Given the description of an element on the screen output the (x, y) to click on. 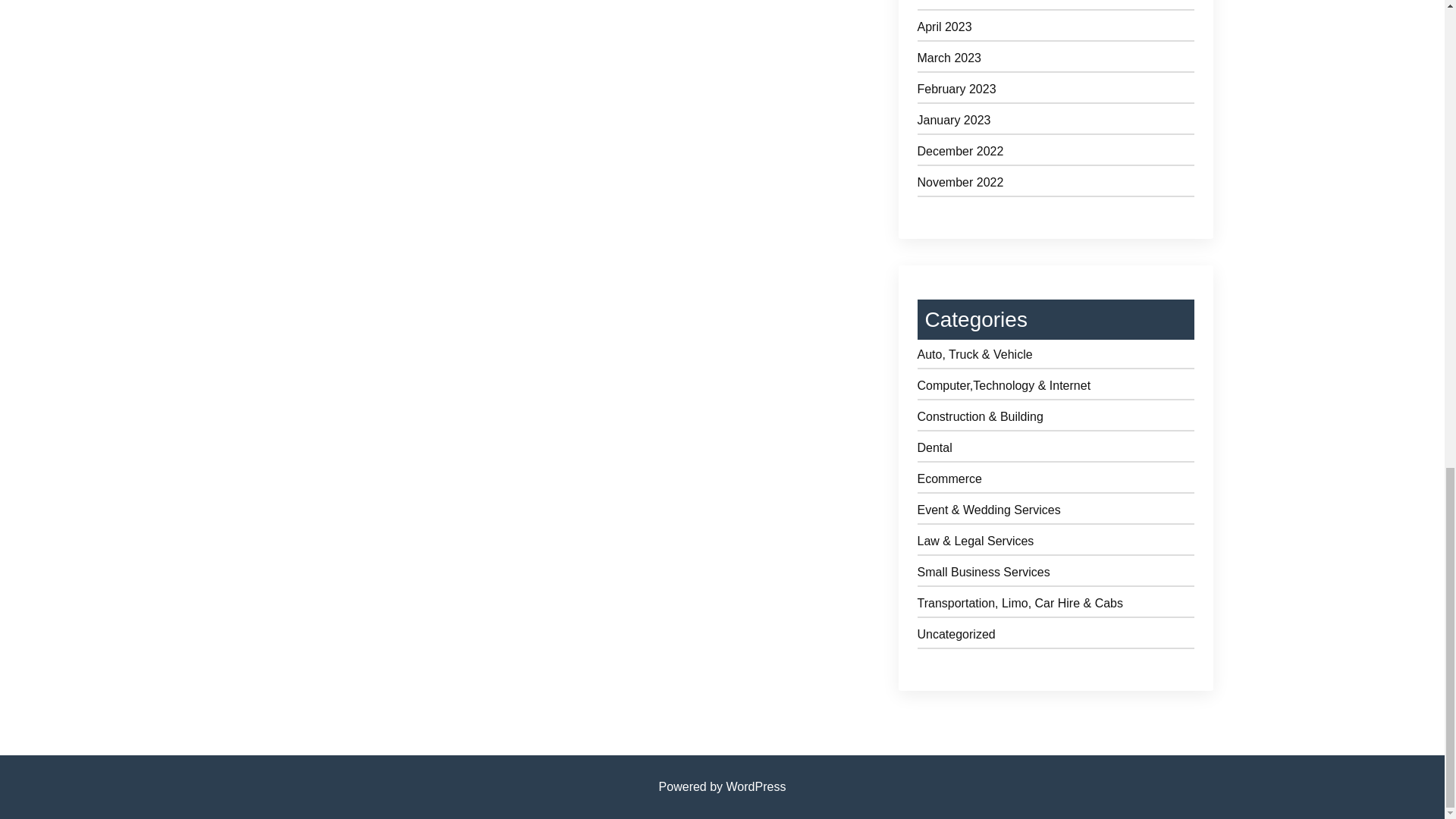
January 2023 (1056, 123)
November 2022 (1056, 185)
Dental (1056, 450)
February 2023 (1056, 92)
December 2023 (1056, 5)
April 2023 (1056, 29)
Uncategorized (1056, 637)
March 2023 (1056, 60)
Small Business Services (1056, 575)
December 2022 (1056, 154)
Ecommerce (1056, 481)
